Given the description of an element on the screen output the (x, y) to click on. 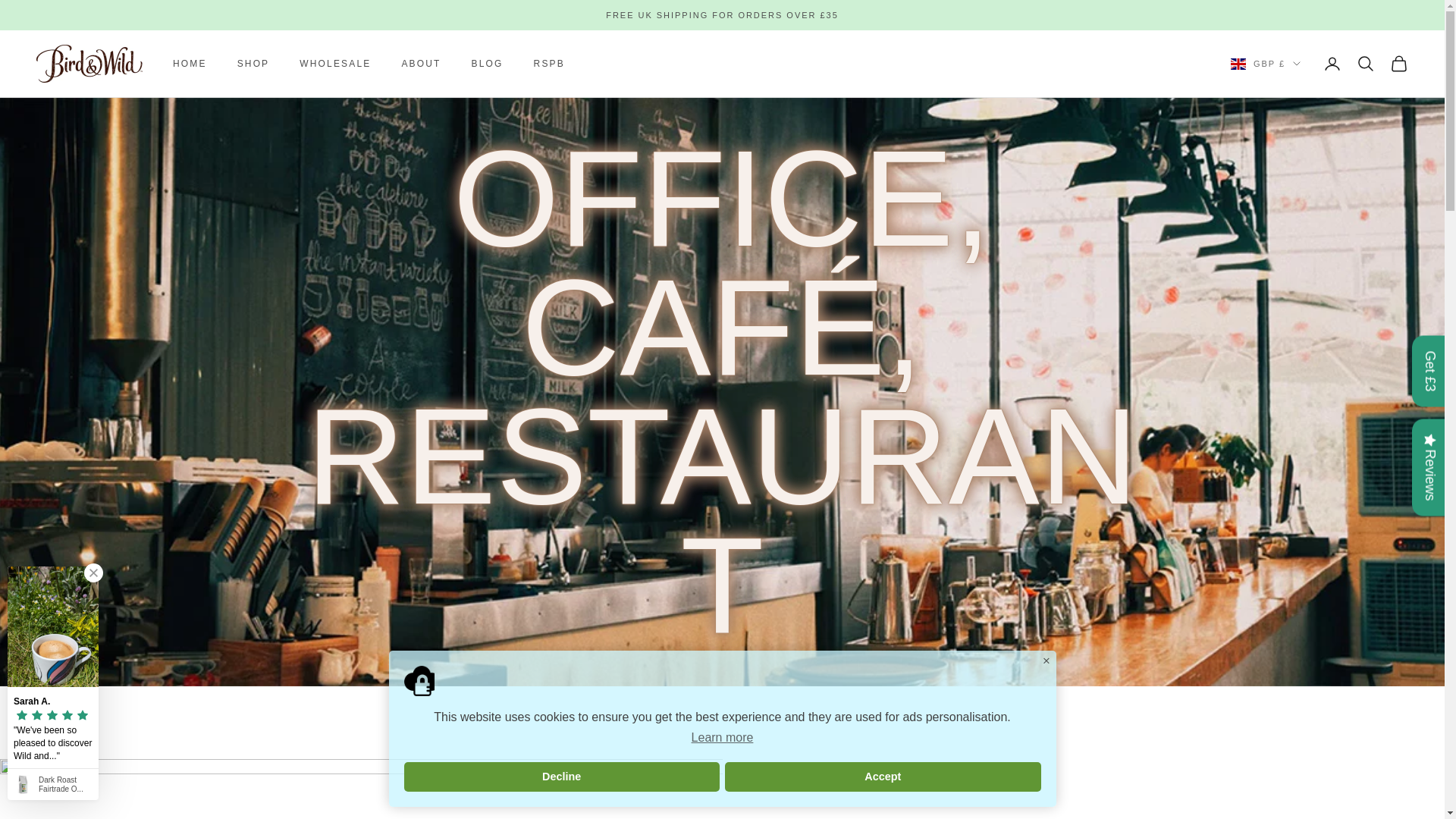
HOME (189, 63)
Decline (561, 776)
Learn more (721, 737)
BLOG (487, 63)
Accept (883, 776)
